Given the description of an element on the screen output the (x, y) to click on. 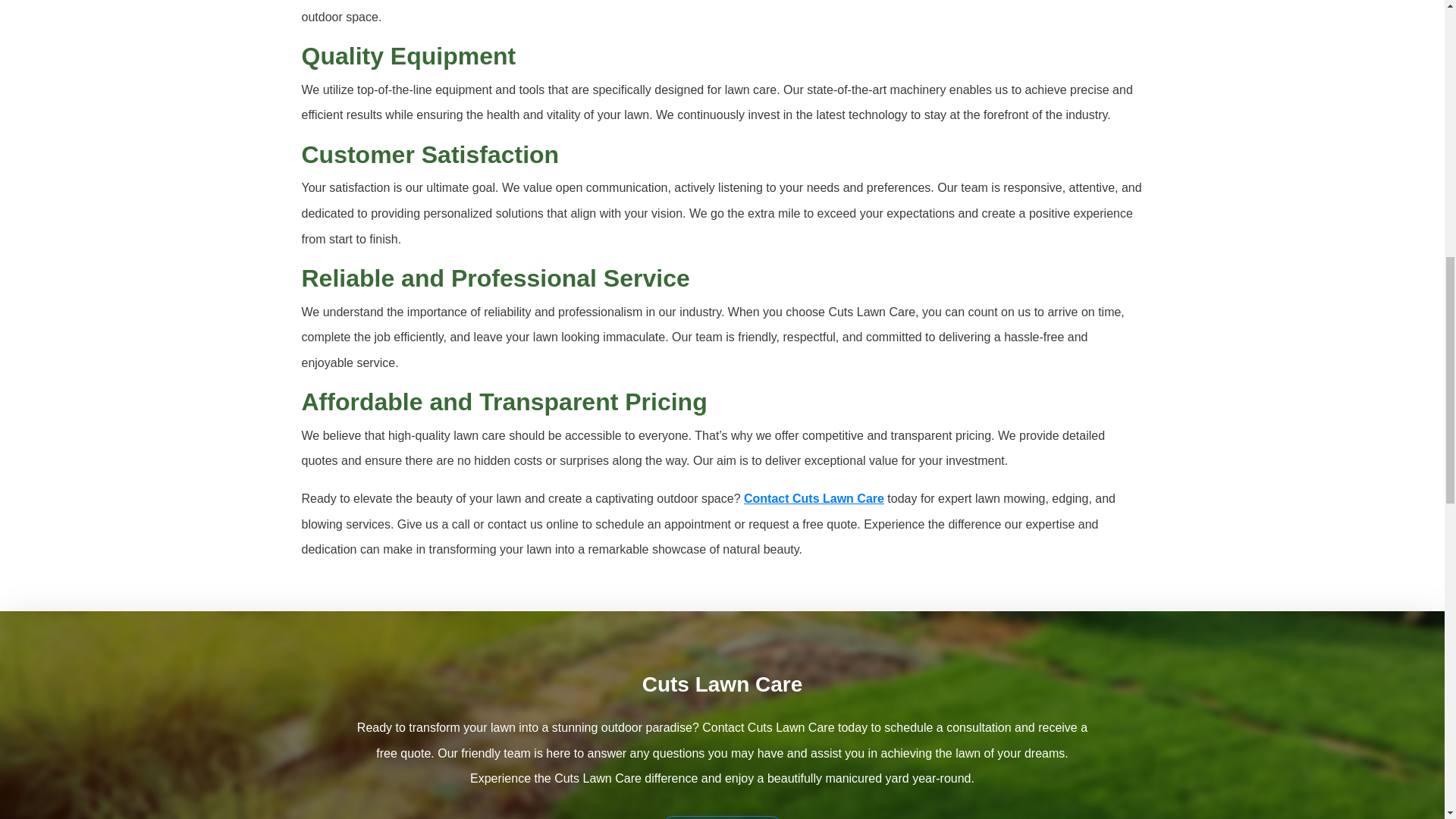
Contact Cuts Lawn Care (813, 498)
Contact Us! (721, 817)
